Given the description of an element on the screen output the (x, y) to click on. 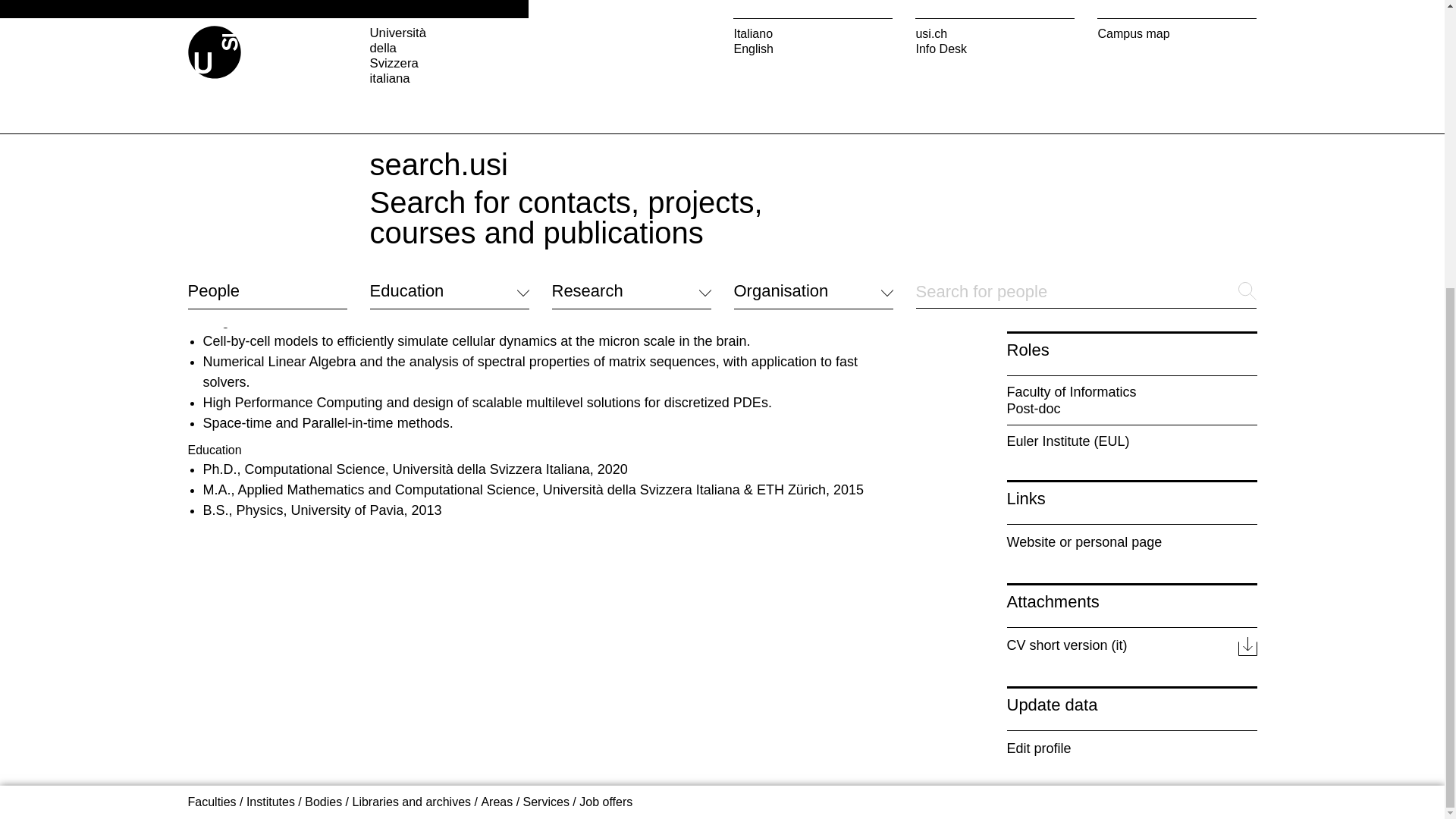
Feedback on the website (255, 289)
Projects (934, 98)
Faculty of Informatics (1072, 391)
Other contacts (226, 271)
Publications (631, 98)
Lugano Campus (595, 205)
Edit profile (1132, 748)
Profile (327, 98)
Mendrisio Campus (601, 224)
Website or personal page (1132, 542)
